Given the description of an element on the screen output the (x, y) to click on. 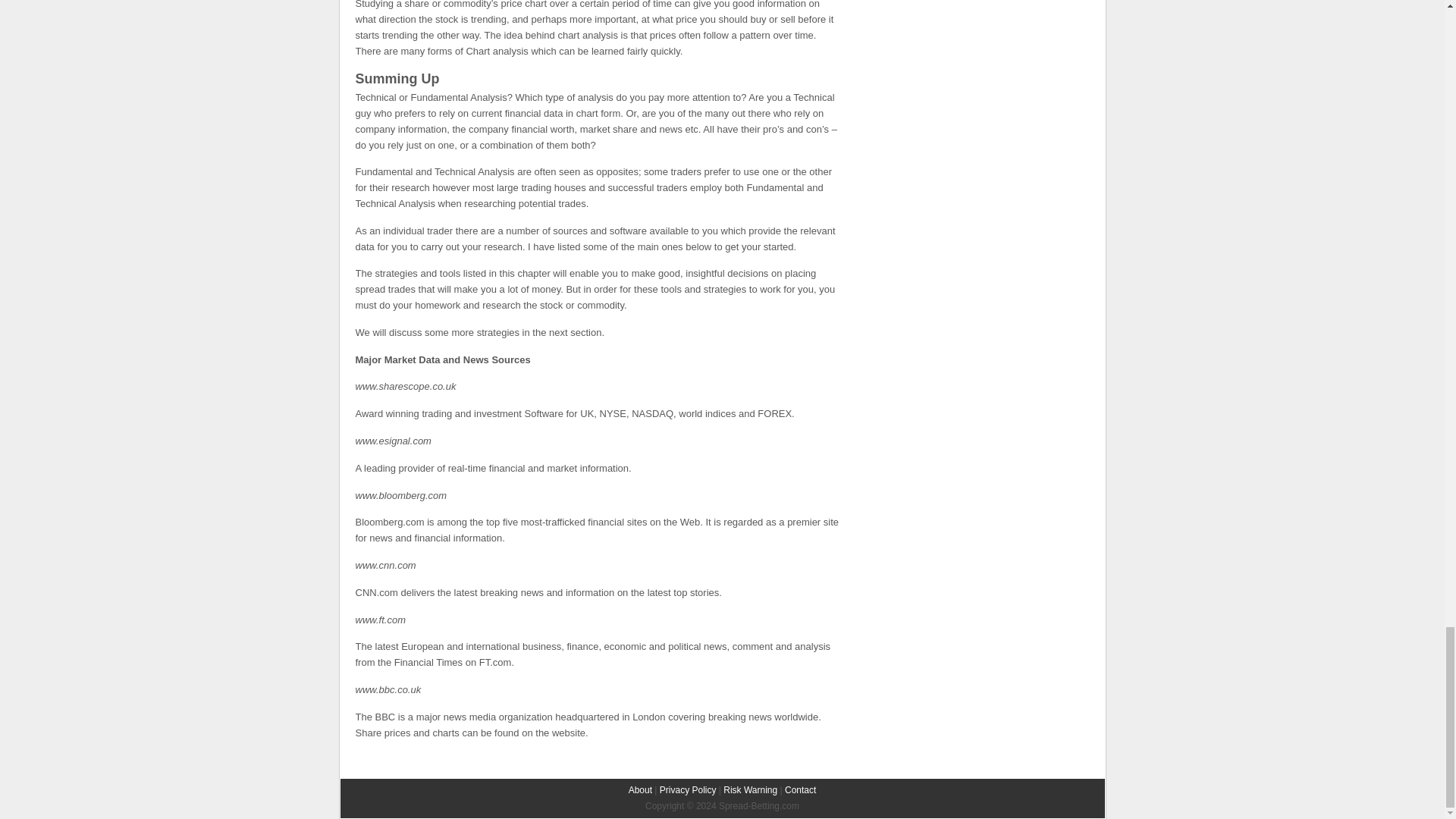
Contact (799, 789)
Privacy Policy (687, 789)
Risk Warning (750, 789)
About (640, 789)
